Given the description of an element on the screen output the (x, y) to click on. 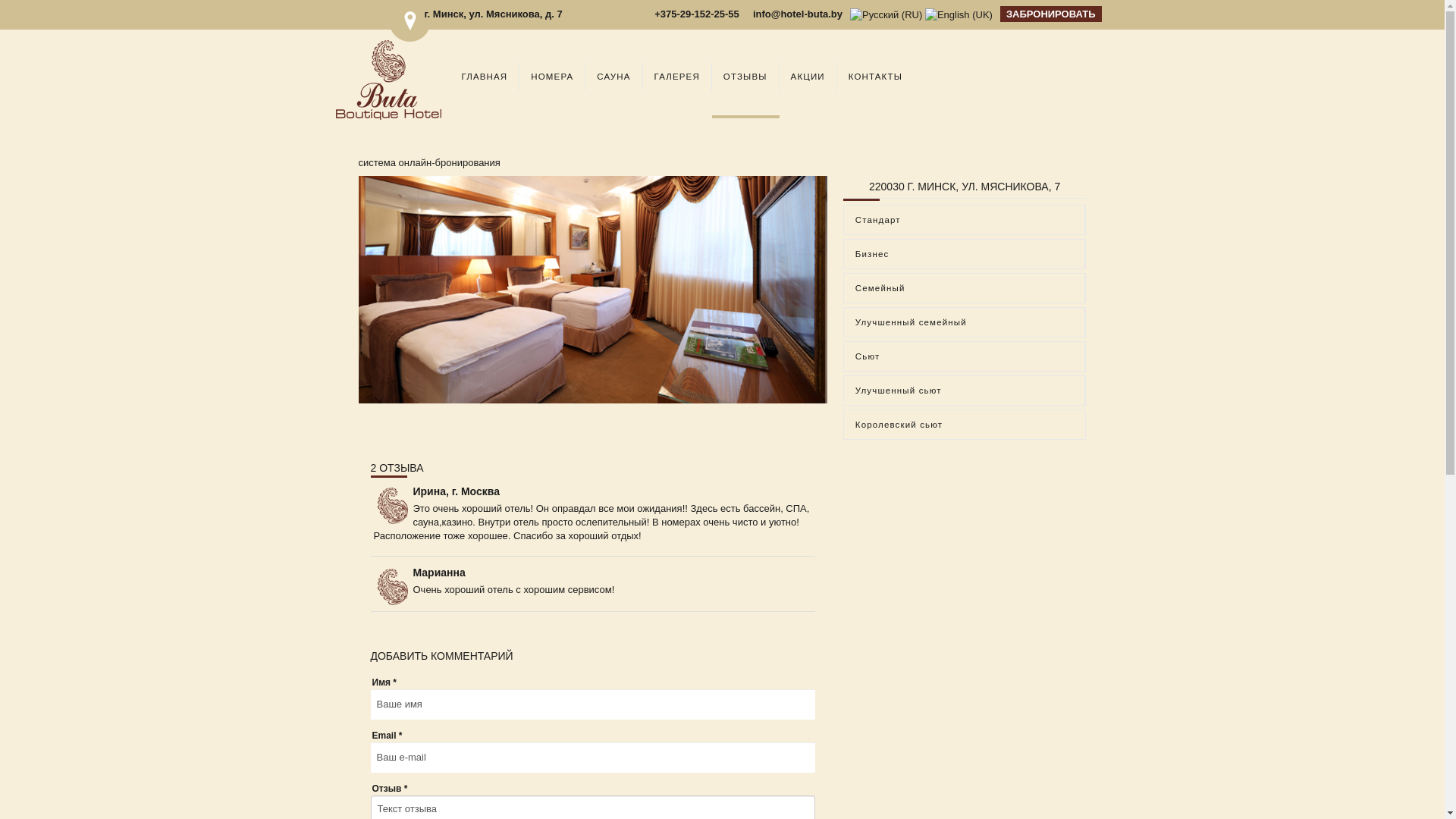
info@hotel-buta.by Element type: text (797, 13)
+375-29-152-25-55 Element type: text (696, 13)
English (UK) Element type: hover (958, 14)
